Given the description of an element on the screen output the (x, y) to click on. 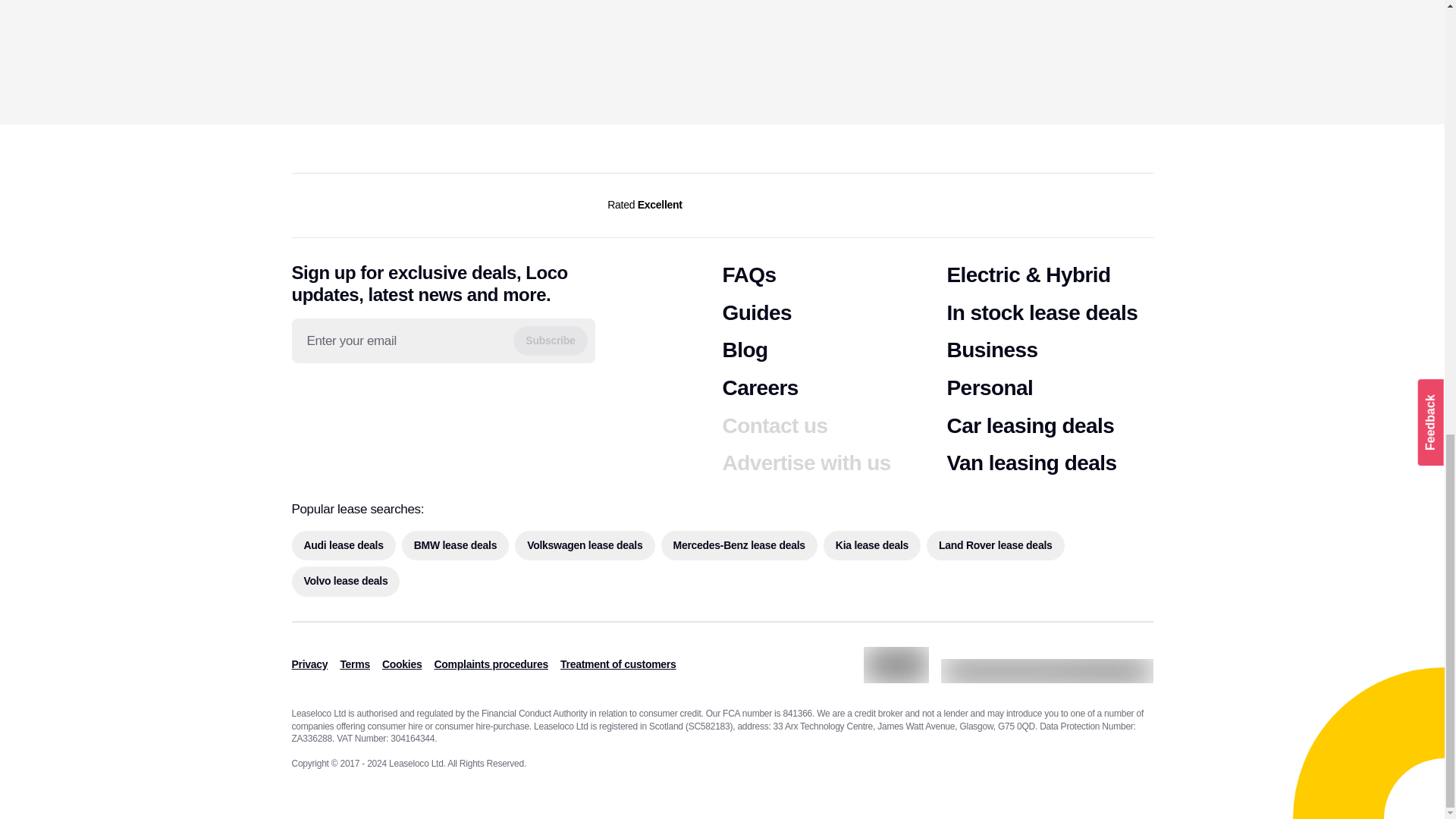
YouTube (396, 398)
Blog (744, 350)
LeaseLoco X Page (364, 397)
LeaseLoco Instagram Page (333, 398)
Subscribe (549, 340)
Facebook (301, 398)
In stock lease deals (1041, 312)
Car leasing deals (1029, 425)
FAQs (749, 275)
Advertise with us (805, 462)
